Given the description of an element on the screen output the (x, y) to click on. 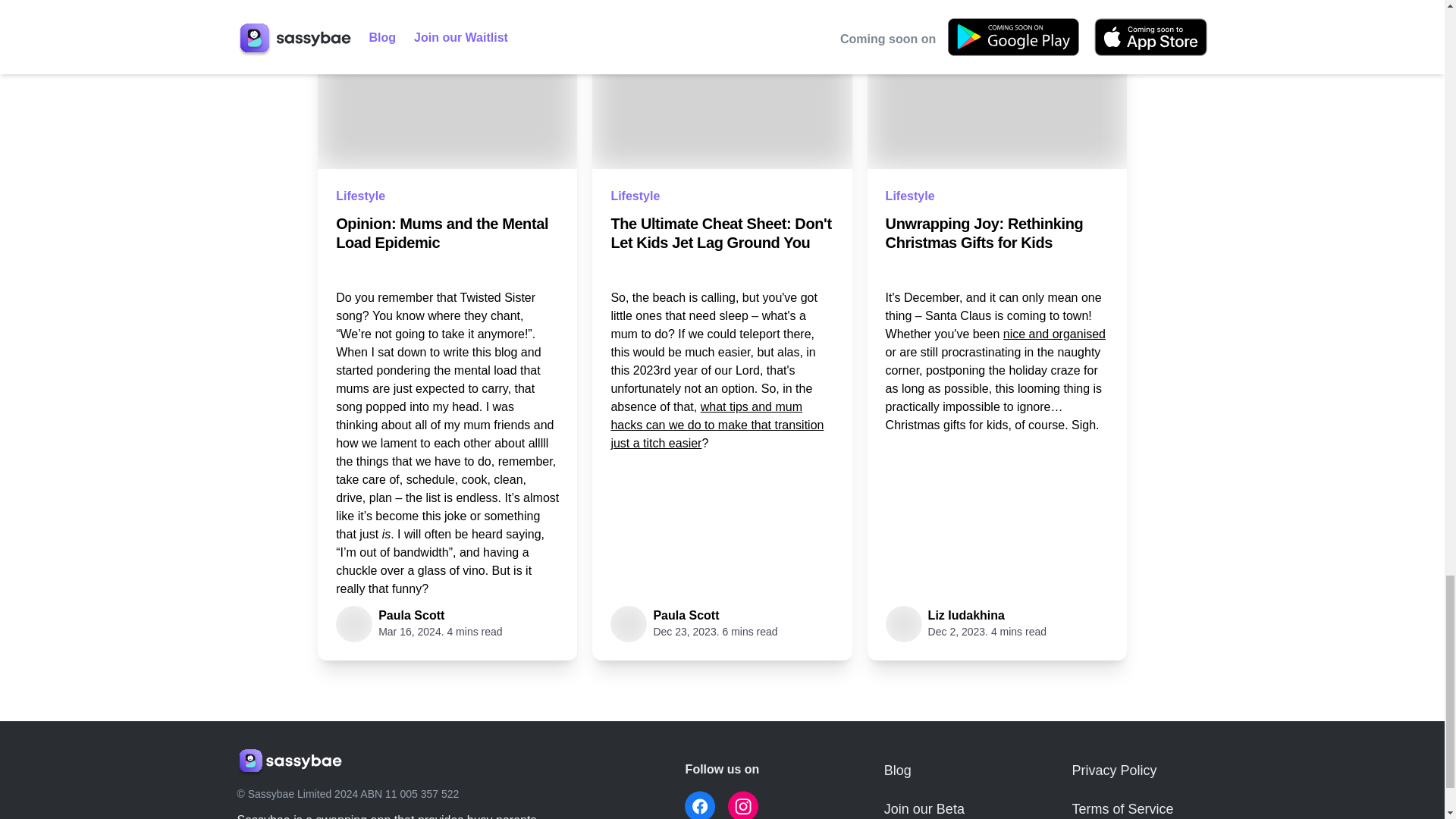
nice and organised (1054, 333)
Opinion: Mums and the Mental Load Epidemic (447, 233)
The Ultimate Cheat Sheet: Don't Let Kids Jet Lag Ground You (721, 233)
Blog (924, 770)
Unwrapping Joy: Rethinking Christmas Gifts for Kids (996, 233)
Privacy Policy (1139, 770)
